Given the description of an element on the screen output the (x, y) to click on. 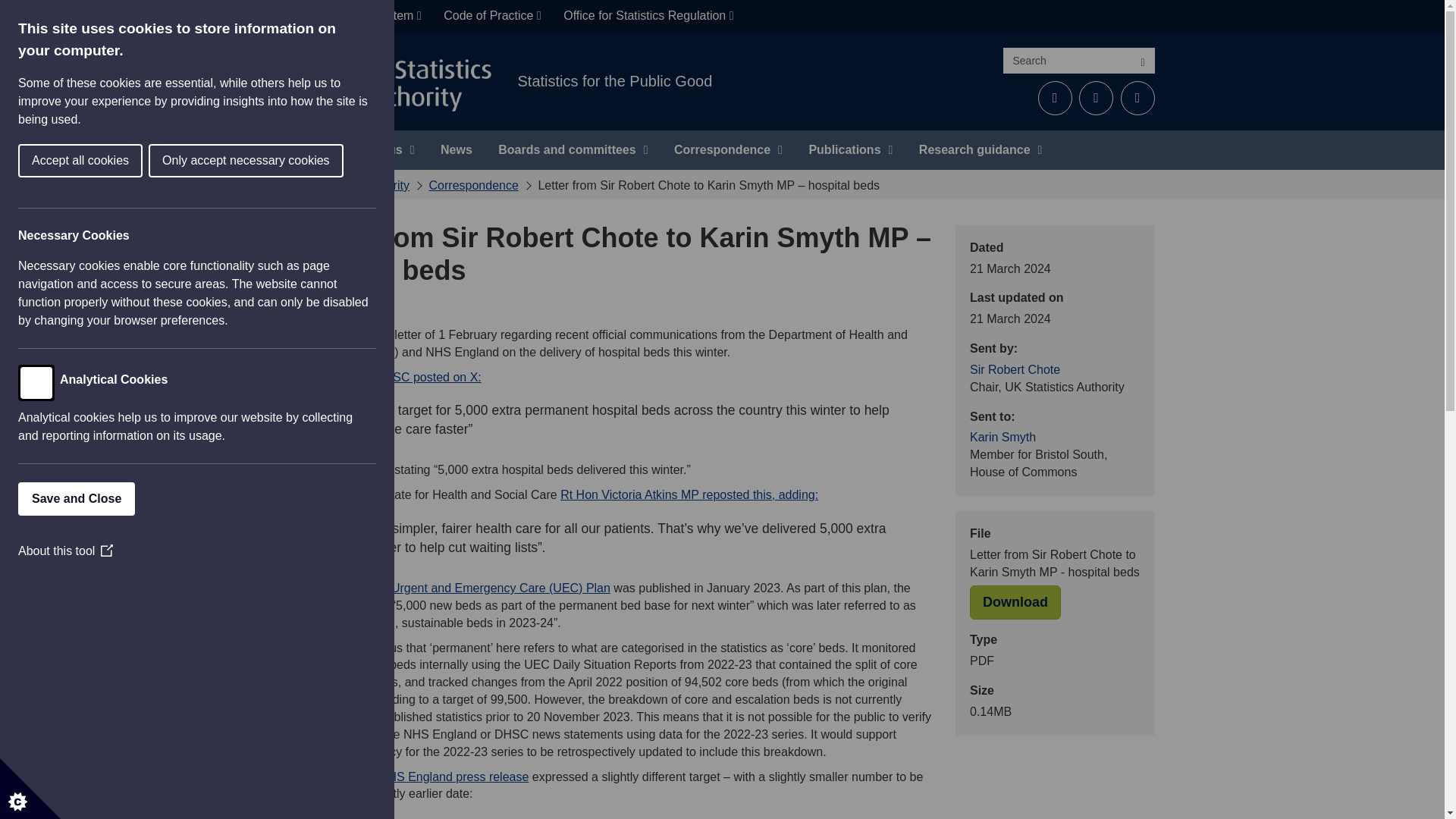
Correspondence (727, 149)
About us (381, 149)
News (456, 149)
LinkedIn (1095, 98)
Statistics for the Public Good (613, 80)
UK Statistical System (358, 16)
Home (306, 149)
Office for Statistics Regulation (648, 16)
Search (1142, 60)
Publications (850, 149)
Boards and committees (572, 149)
Go to UK Statistics Authority. (349, 185)
RSS Feed (1137, 98)
Code of Practice (491, 16)
Only accept necessary cookies (105, 160)
